Given the description of an element on the screen output the (x, y) to click on. 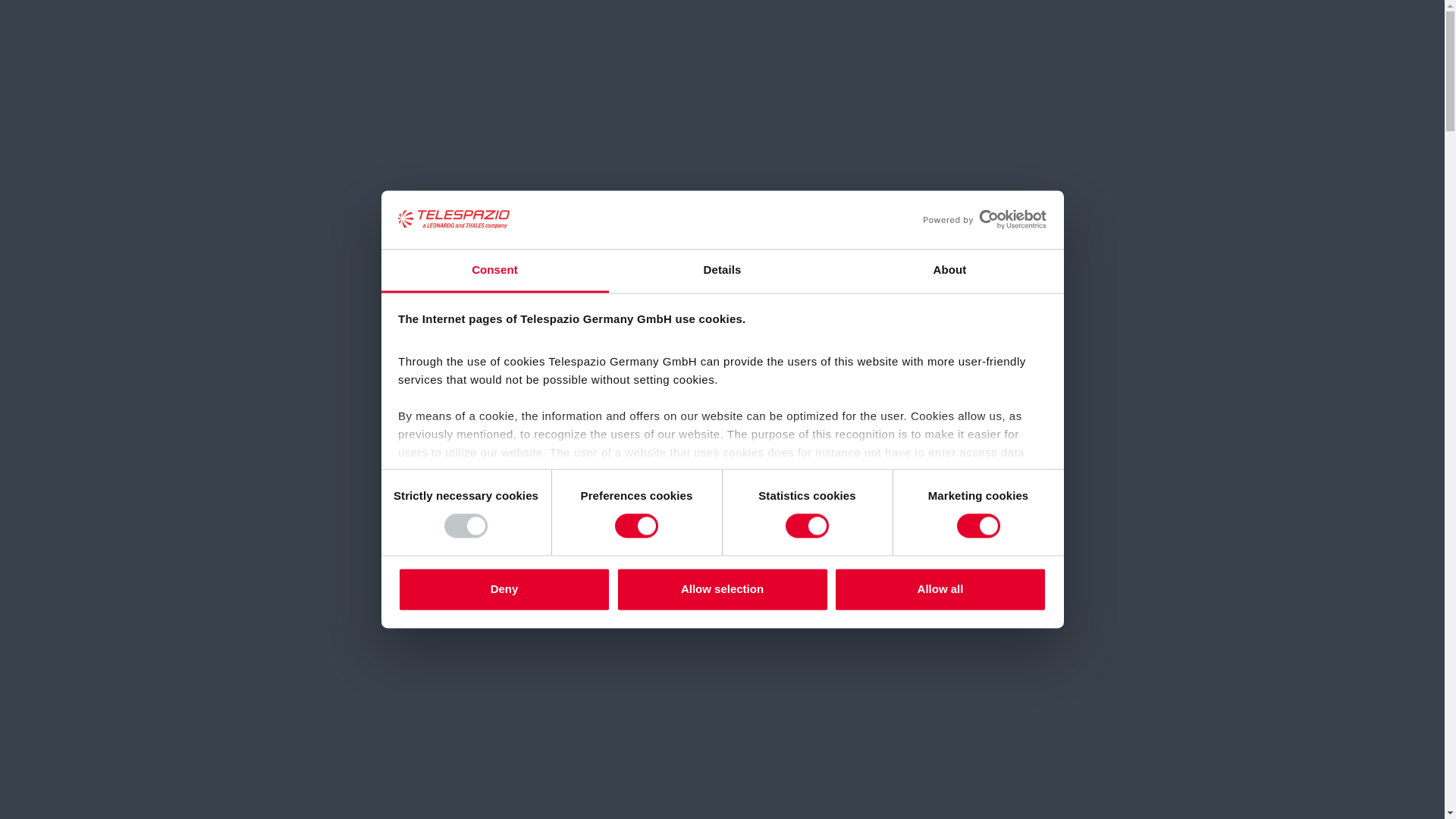
Deny (503, 588)
Allow selection (721, 588)
Consent (494, 270)
Allow all (940, 588)
Details (721, 270)
About (948, 270)
